Given the description of an element on the screen output the (x, y) to click on. 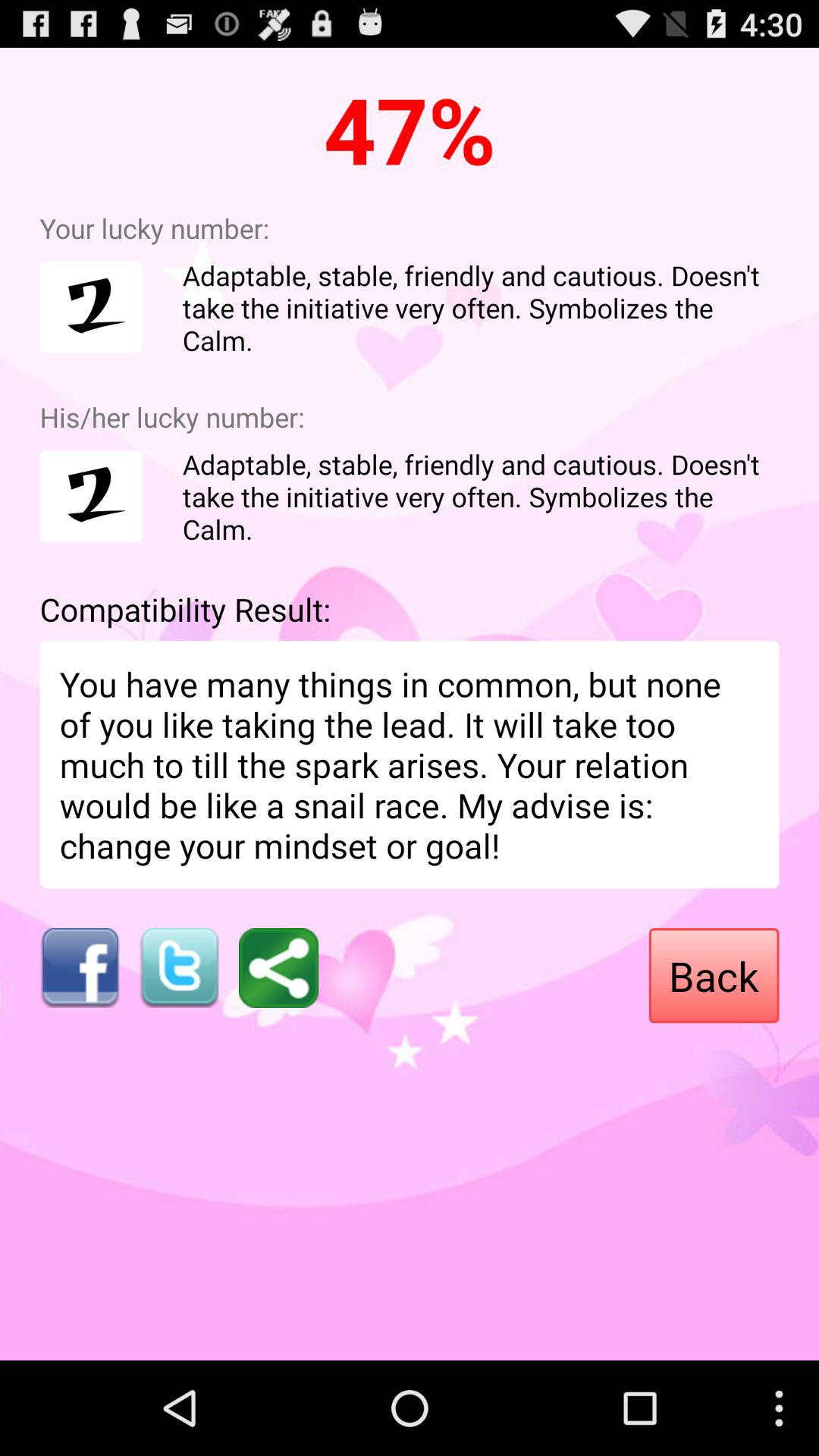
share the article (278, 967)
